Given the description of an element on the screen output the (x, y) to click on. 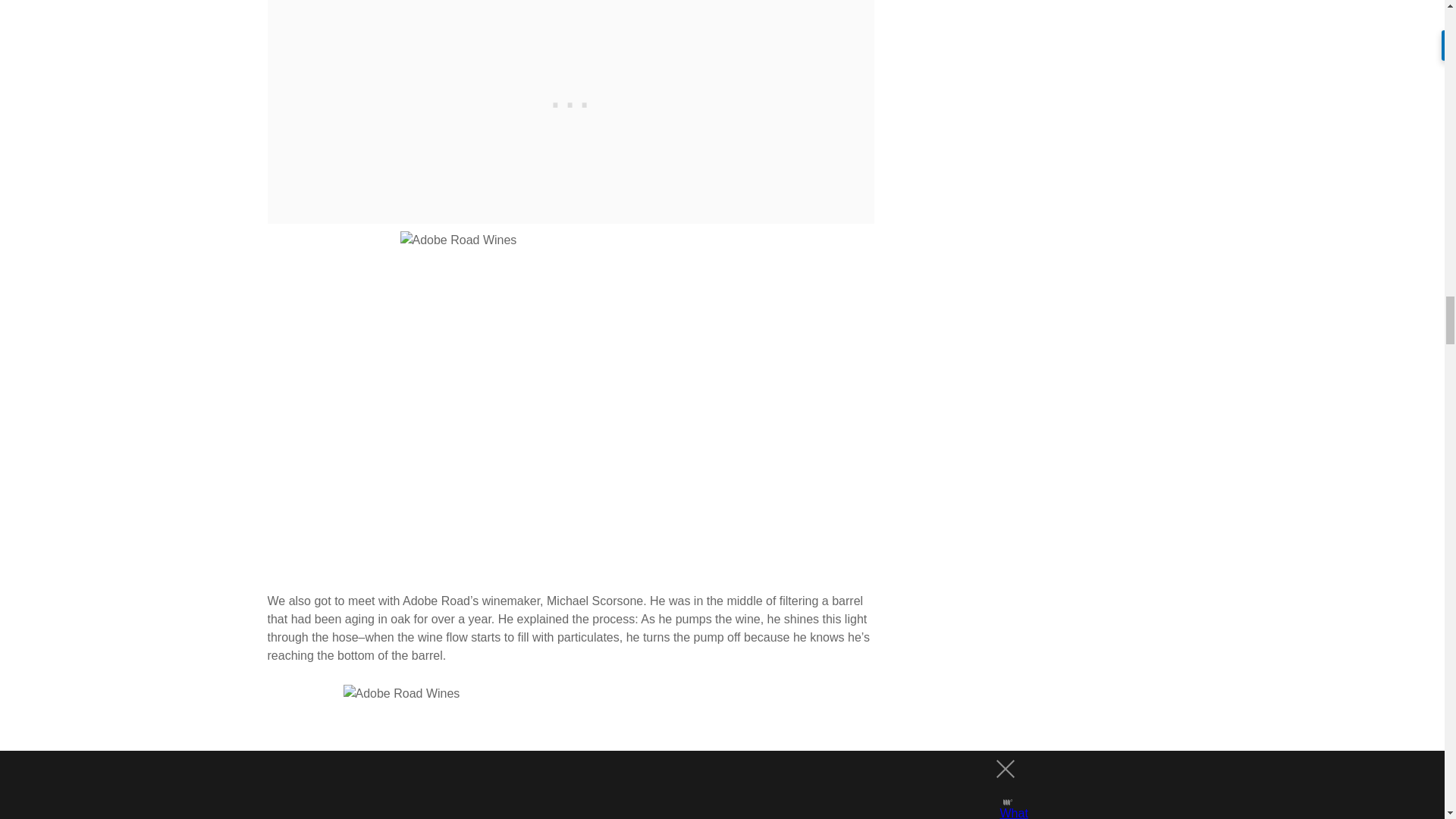
Adobe Road Wines (569, 751)
Adobe Road Wines (570, 401)
